Given the description of an element on the screen output the (x, y) to click on. 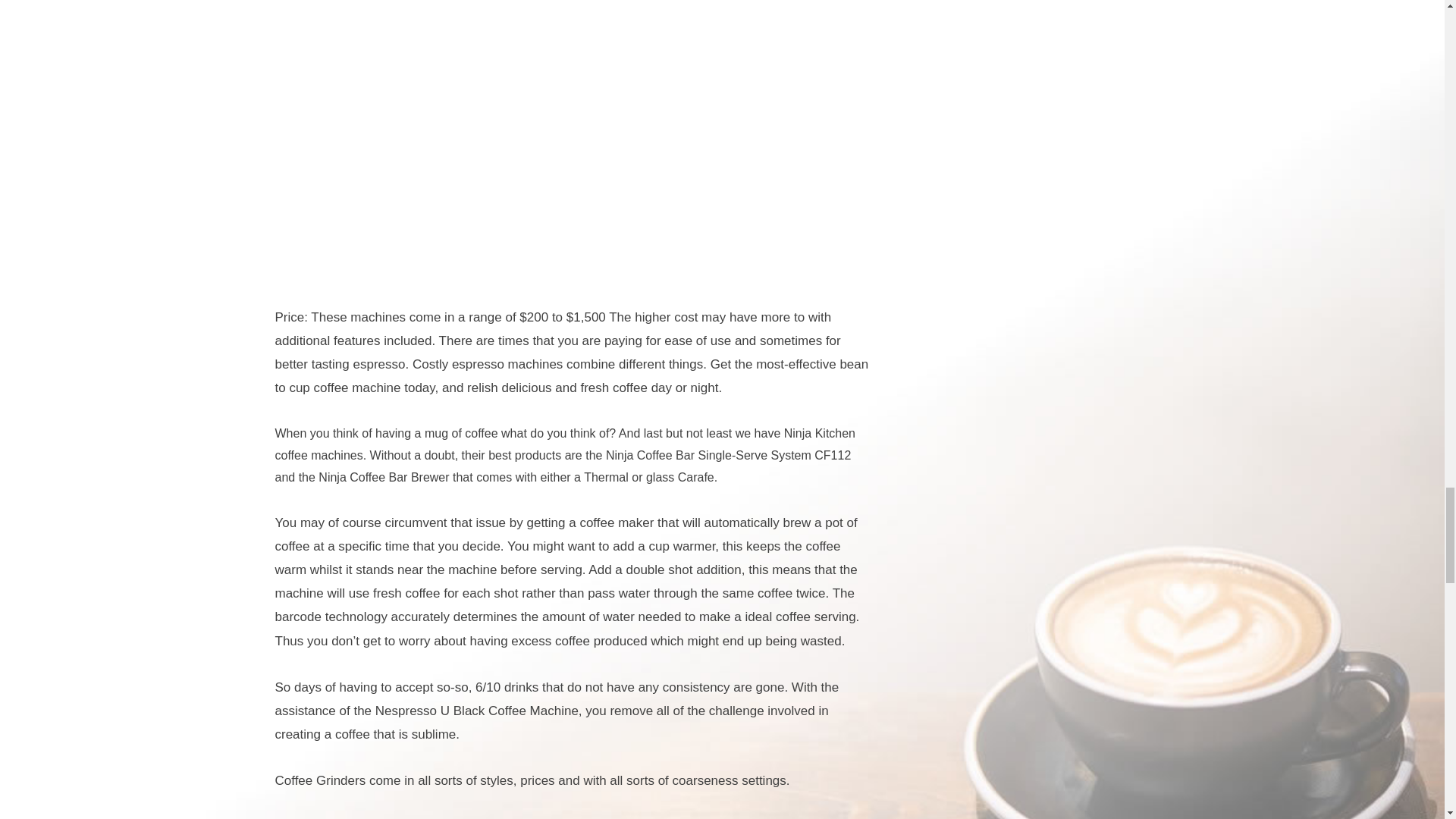
Best Delonghi Coffee Machine (573, 137)
